Given the description of an element on the screen output the (x, y) to click on. 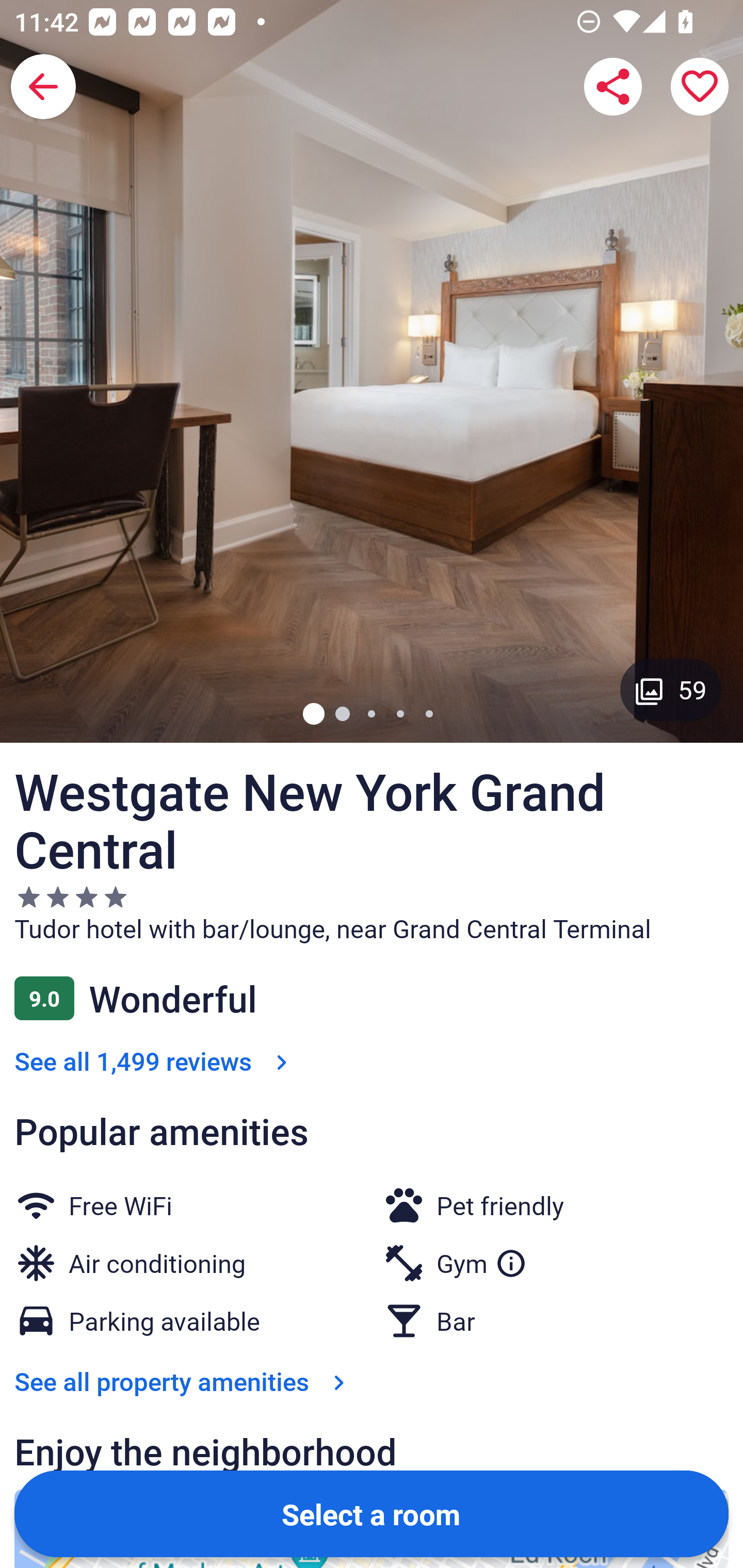
Back (43, 86)
Save property to a trip (699, 86)
Share Westgate New York Grand Central (612, 87)
Gallery button with 59 images (670, 689)
See all 1,499 reviews See all 1,499 reviews Link (154, 1060)
Gym (481, 1259)
See all property amenities (183, 1381)
Select a room Button Select a room (371, 1513)
